Given the description of an element on the screen output the (x, y) to click on. 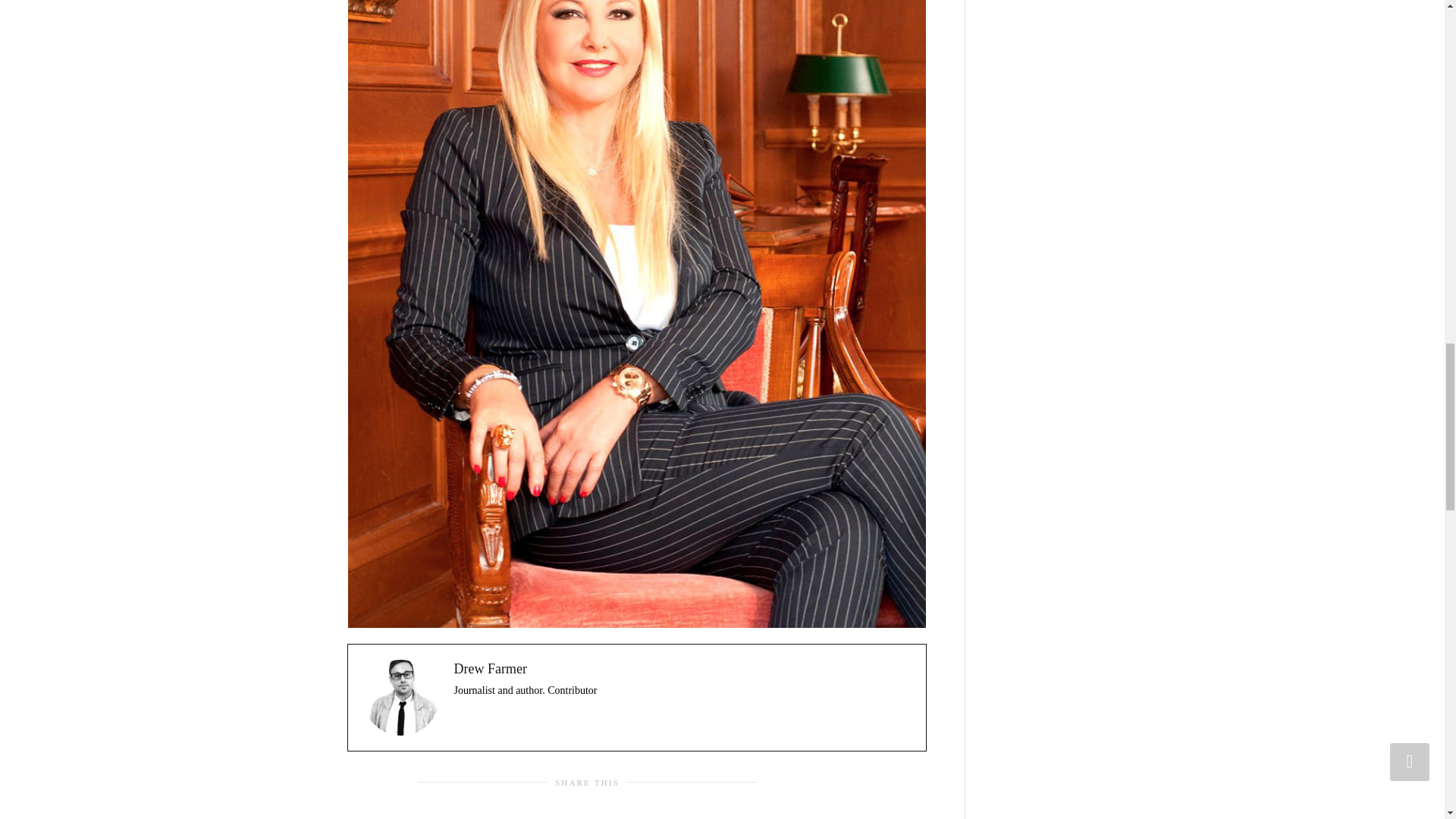
Drew Farmer (488, 668)
